Given the description of an element on the screen output the (x, y) to click on. 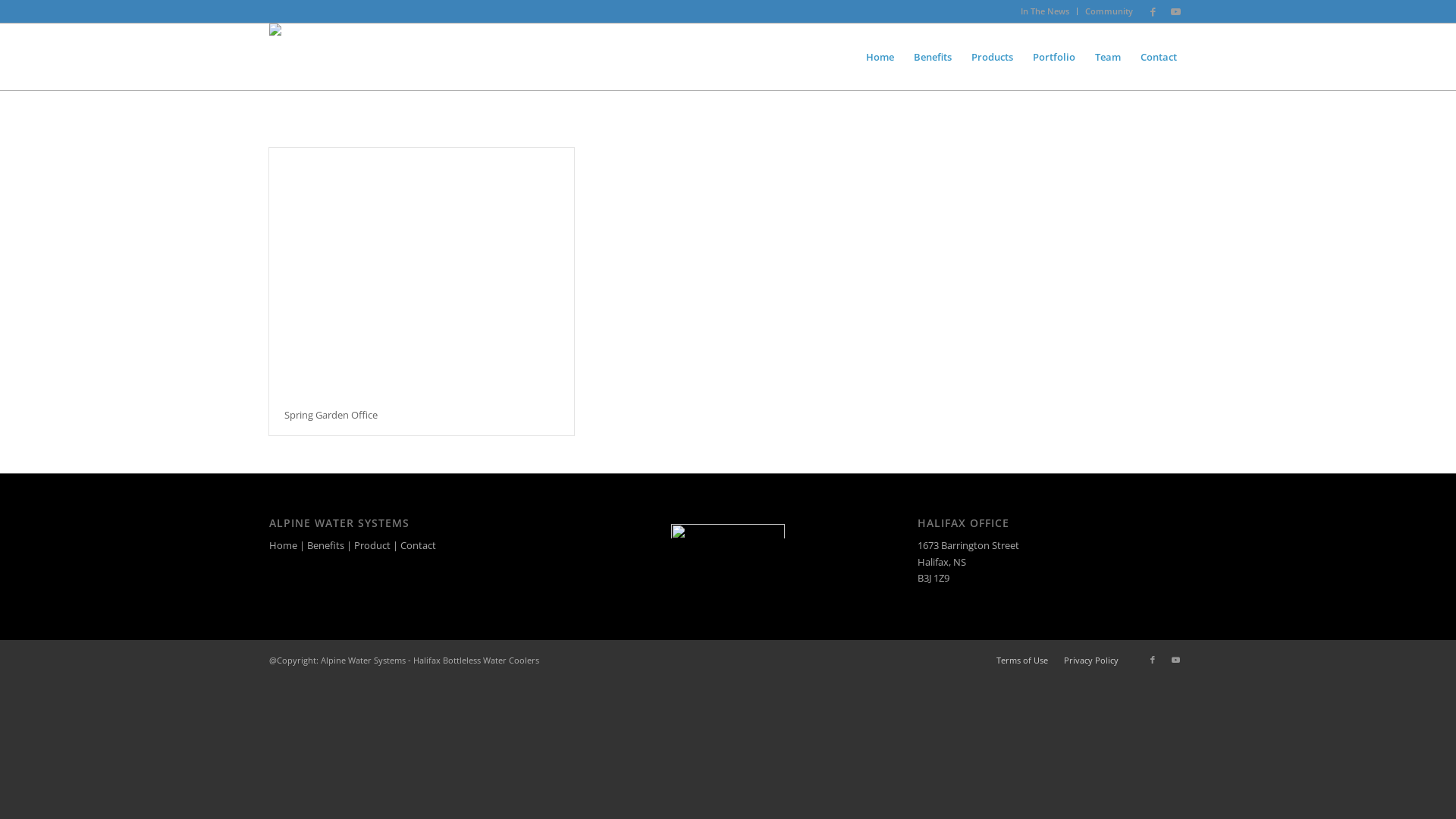
Facebook Element type: hover (1152, 11)
Spring Garden Office Element type: text (330, 414)
Terms of Use Element type: text (1022, 659)
Facebook Element type: hover (1152, 659)
In The News Element type: text (1044, 10)
Products Element type: text (991, 56)
Youtube Element type: hover (1175, 659)
Contact Element type: text (1158, 56)
Youtube Element type: hover (1175, 11)
Privacy Policy Element type: text (1090, 659)
old.logo_ Element type: hover (324, 41)
Contact Element type: text (418, 545)
Home Element type: text (283, 545)
Home Element type: text (879, 56)
Benefits Element type: text (932, 56)
Benefits Element type: text (325, 545)
Community Element type: text (1108, 10)
Team Element type: text (1107, 56)
Portfolio Element type: text (1053, 56)
Product Element type: text (372, 545)
